Given the description of an element on the screen output the (x, y) to click on. 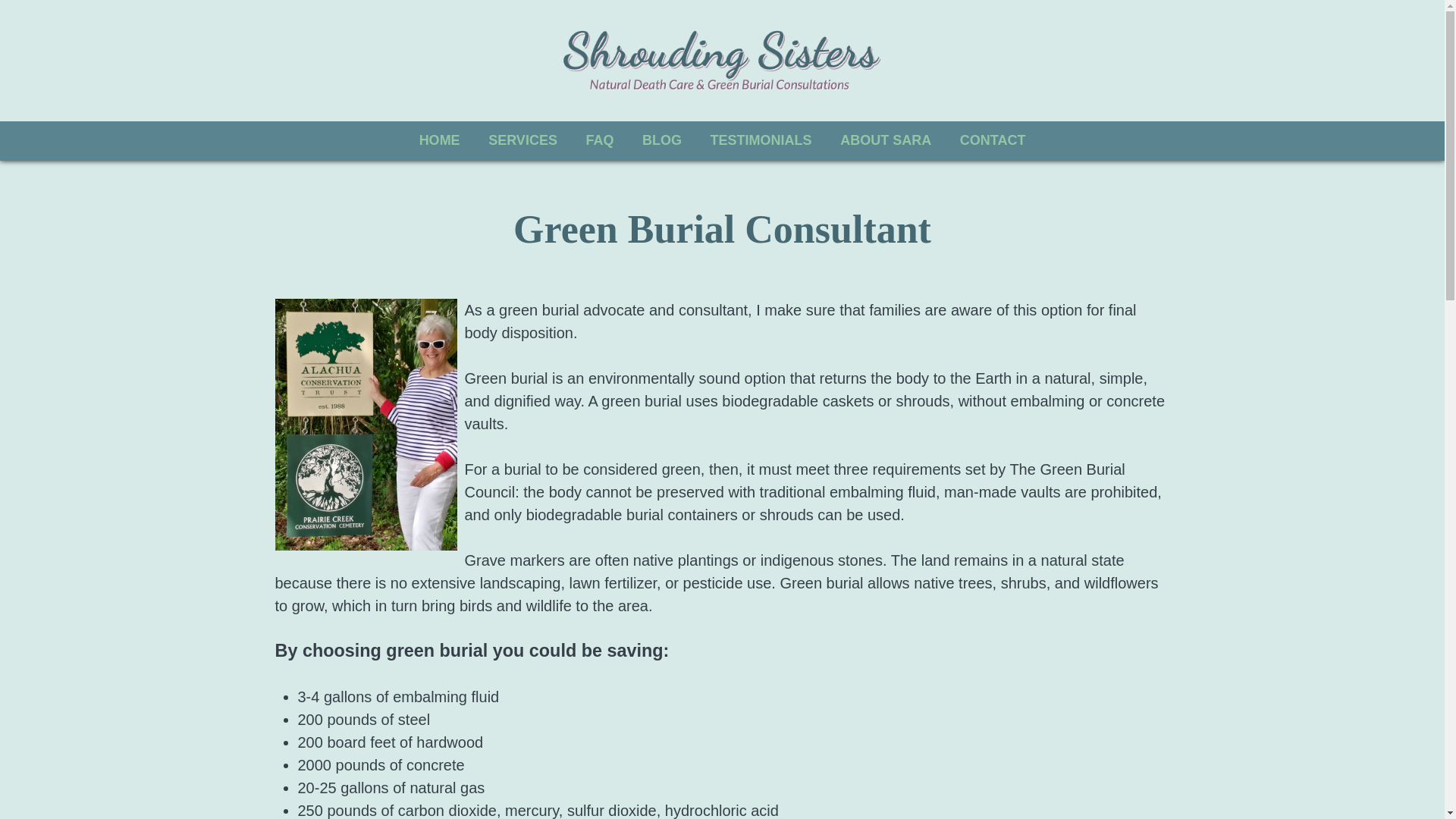
Home (721, 60)
ABOUT SARA (885, 140)
FAQ (598, 140)
CONTACT (992, 140)
TESTIMONIALS (761, 140)
BLOG (661, 140)
SERVICES (522, 140)
HOME (439, 140)
